Given the description of an element on the screen output the (x, y) to click on. 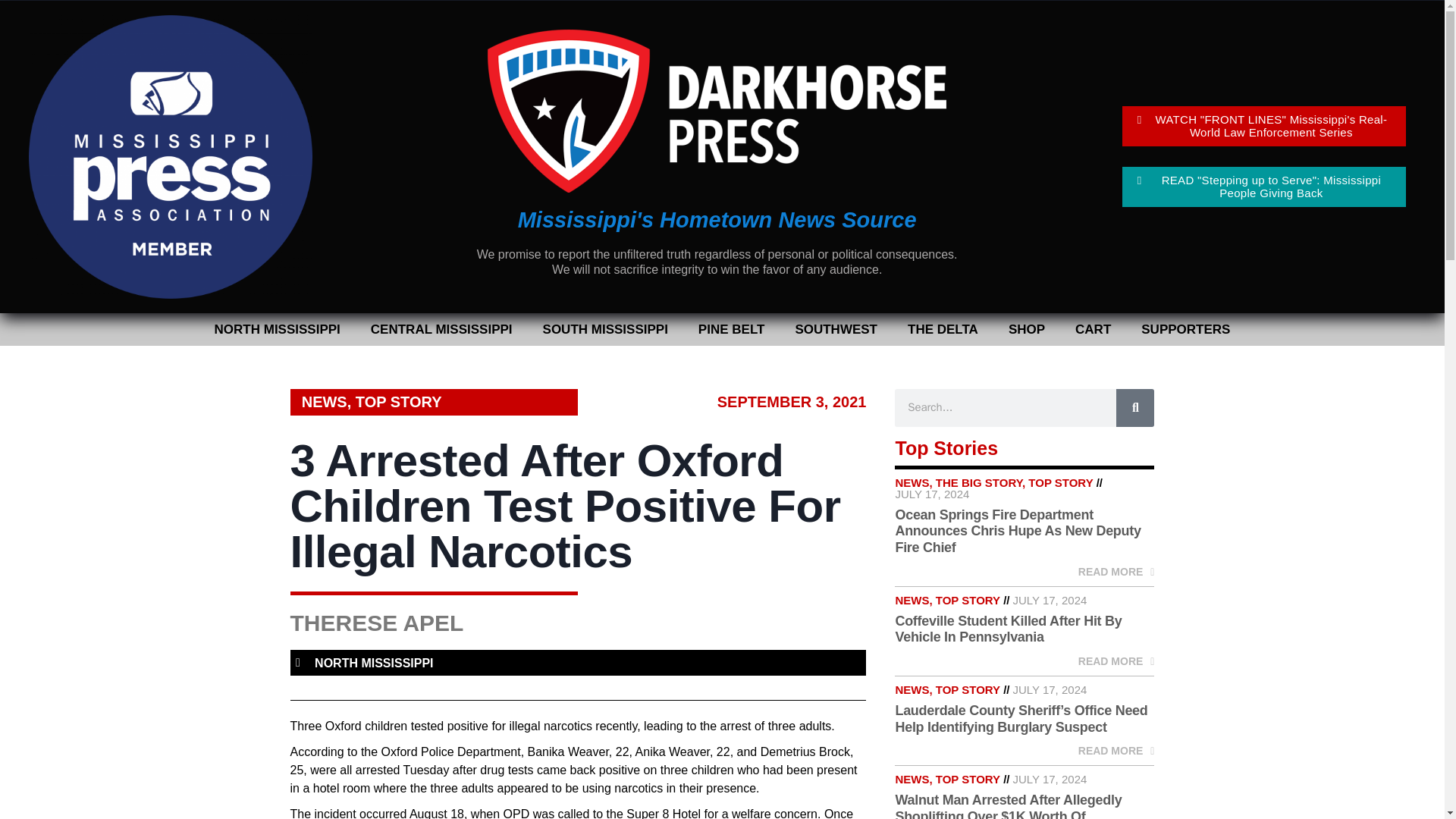
SOUTH MISSISSIPPI (604, 328)
TOP STORY (398, 401)
PINE BELT (731, 328)
NEWS (324, 401)
NORTH MISSISSIPPI (373, 662)
SOUTHWEST (835, 328)
NORTH MISSISSIPPI (277, 328)
SUPPORTERS (1184, 328)
READ "Stepping up to Serve": Mississippi People Giving Back (1264, 187)
CART (1092, 328)
THE DELTA (942, 328)
CENTRAL MISSISSIPPI (441, 328)
SHOP (1025, 328)
